Given the description of an element on the screen output the (x, y) to click on. 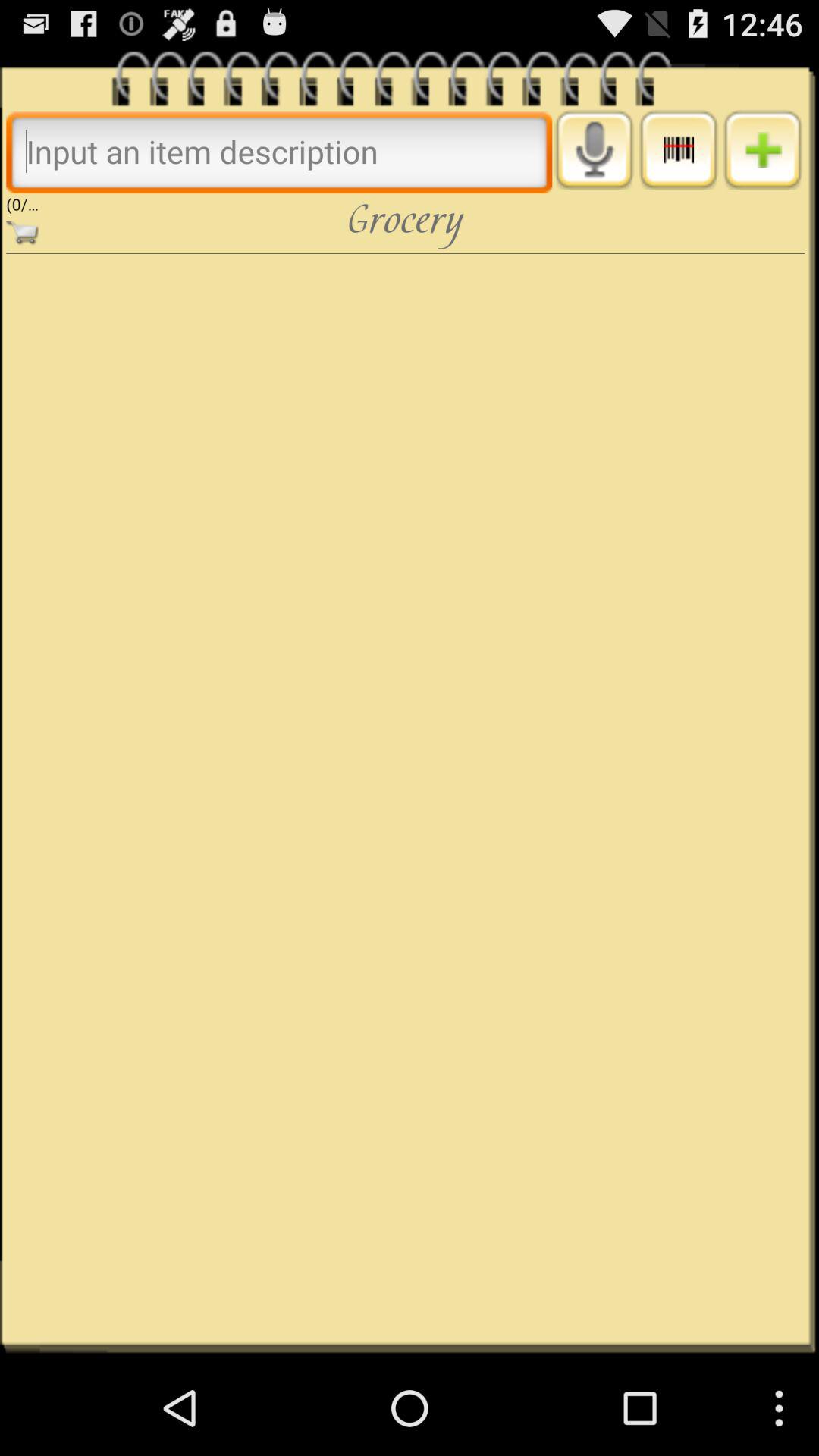
input item description (279, 151)
